Given the description of an element on the screen output the (x, y) to click on. 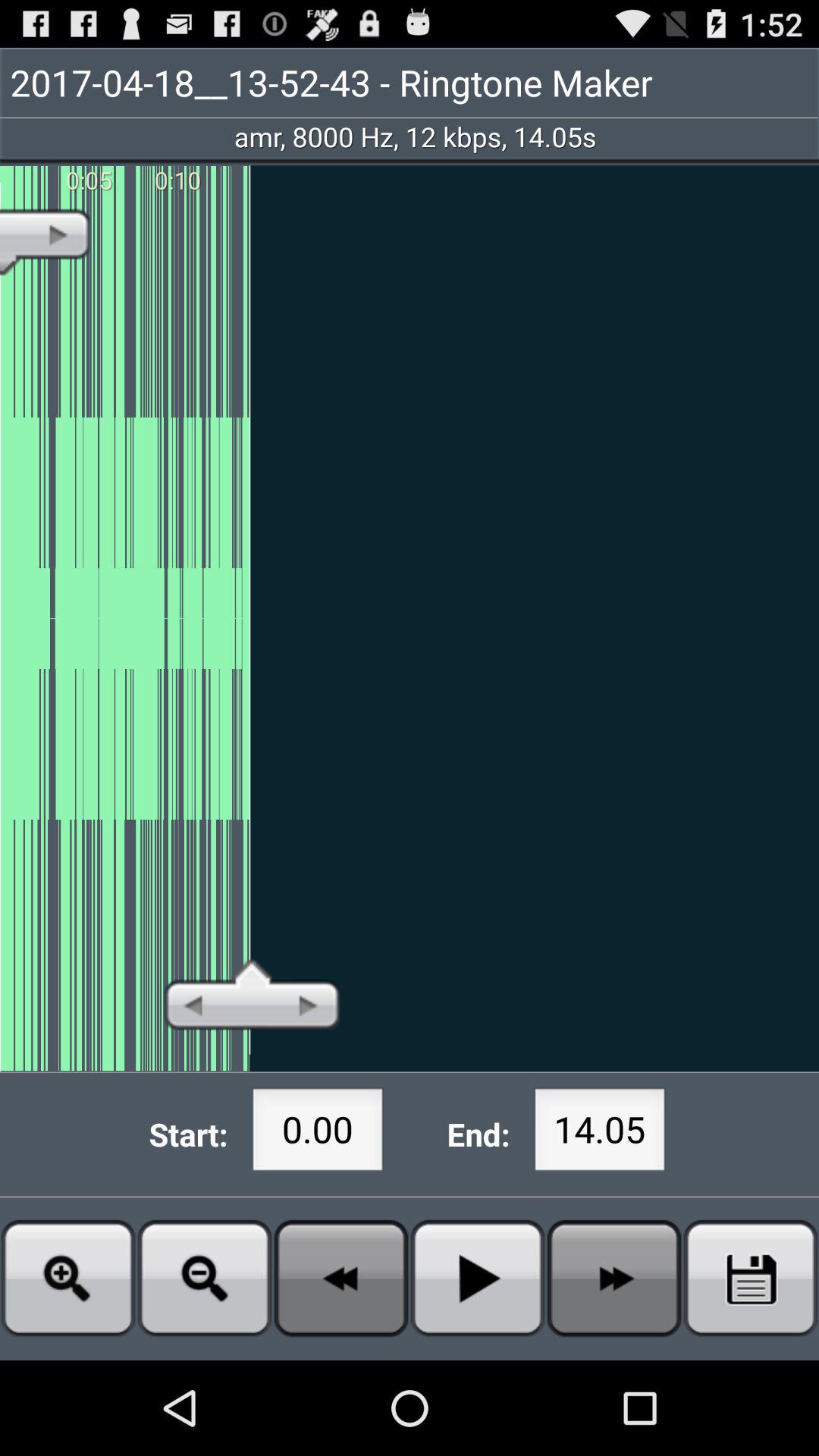
save clip (750, 1278)
